Given the description of an element on the screen output the (x, y) to click on. 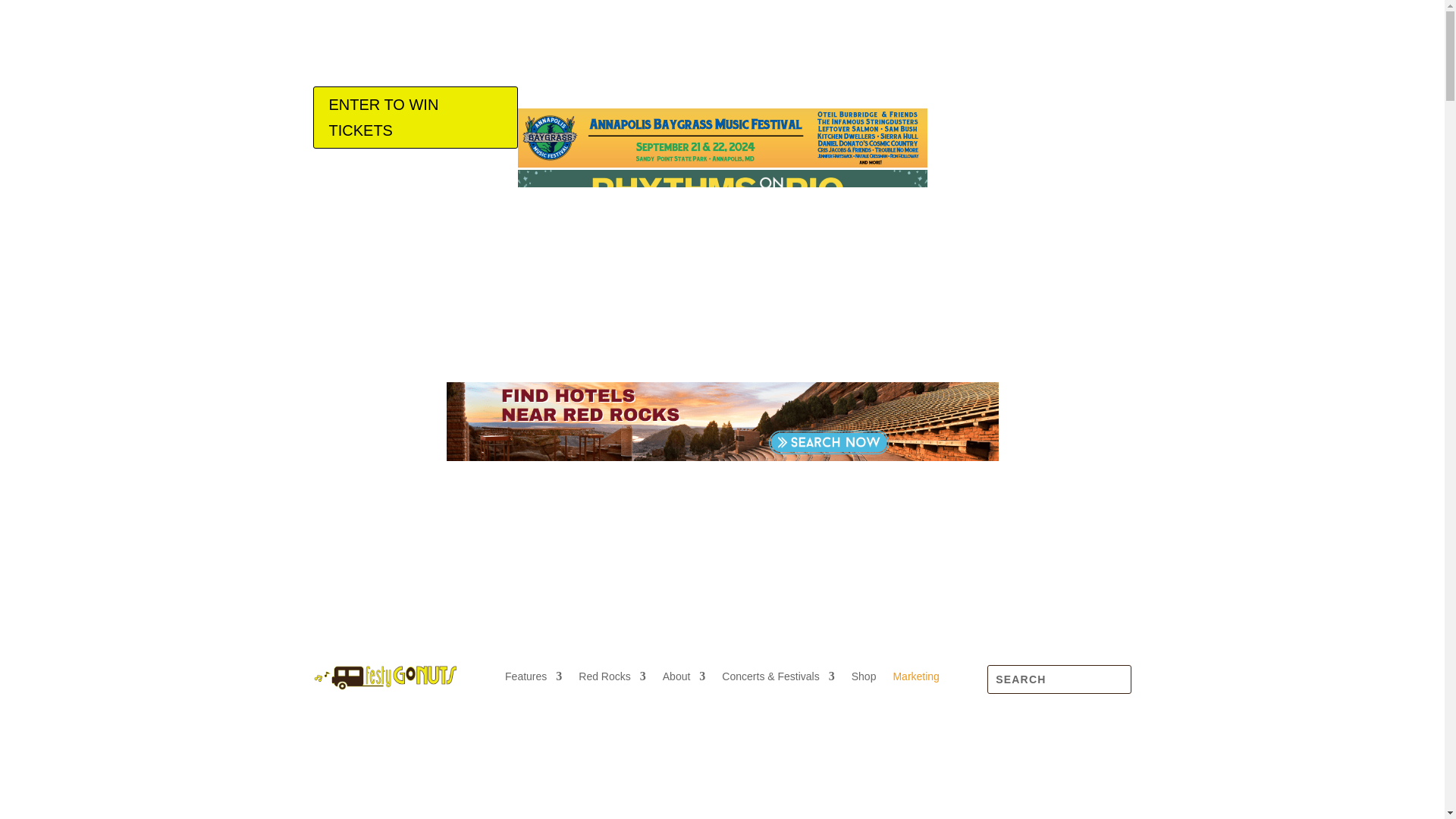
Red Rocks (611, 678)
Follow on Youtube (1118, 473)
Follow on Youtube (1118, 98)
ENTER TO WIN TICKETS (414, 117)
Follow on Instagram (1058, 473)
Follow on Facebook (1028, 98)
Follow on Spotify (1088, 473)
Follow on Spotify (1088, 98)
Features (533, 678)
Follow on Facebook (1028, 473)
About (684, 678)
Follow on Instagram (1058, 98)
Festy GoNuts (385, 677)
